Given the description of an element on the screen output the (x, y) to click on. 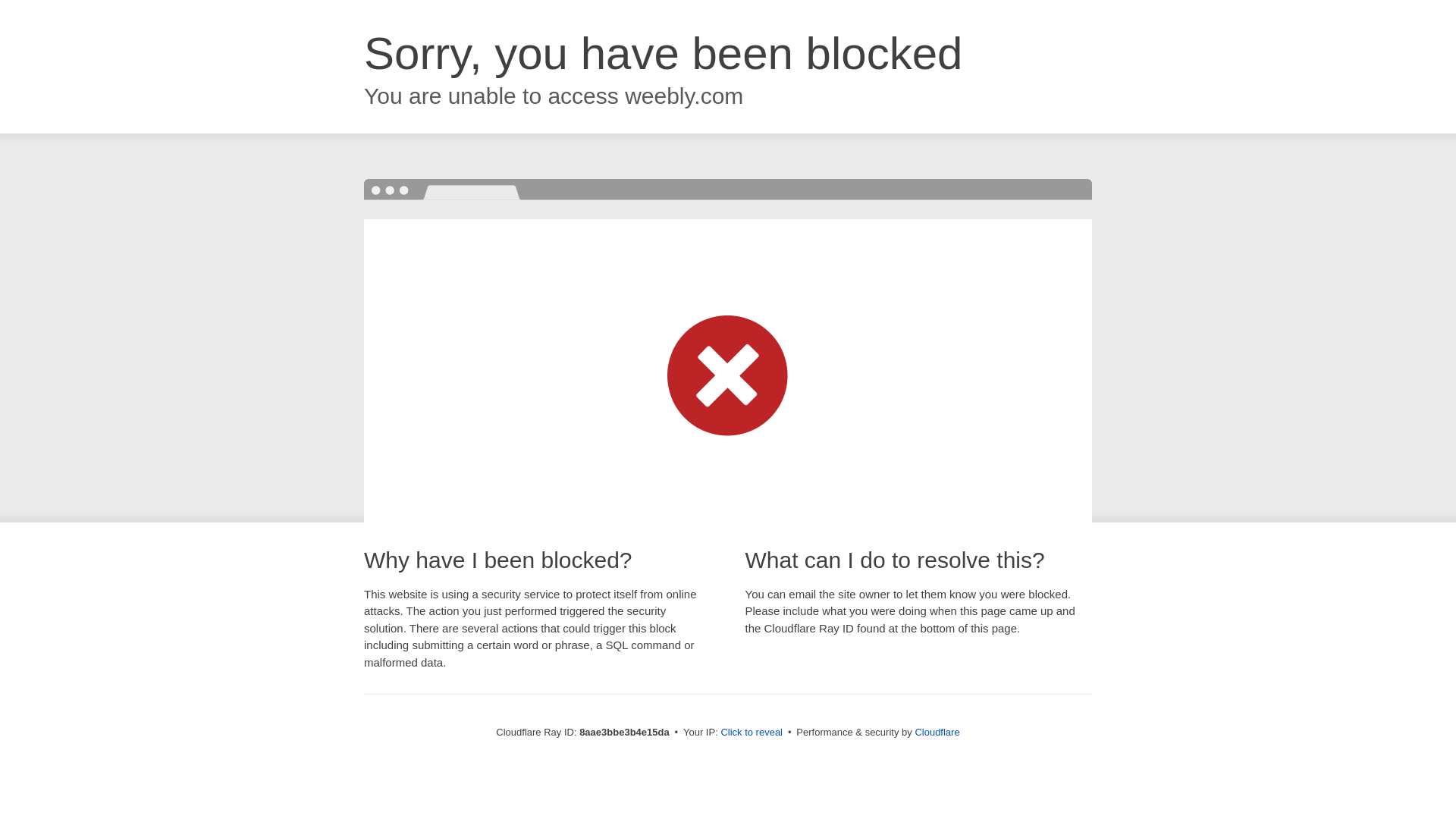
Click to reveal (751, 732)
Cloudflare (936, 731)
